Given the description of an element on the screen output the (x, y) to click on. 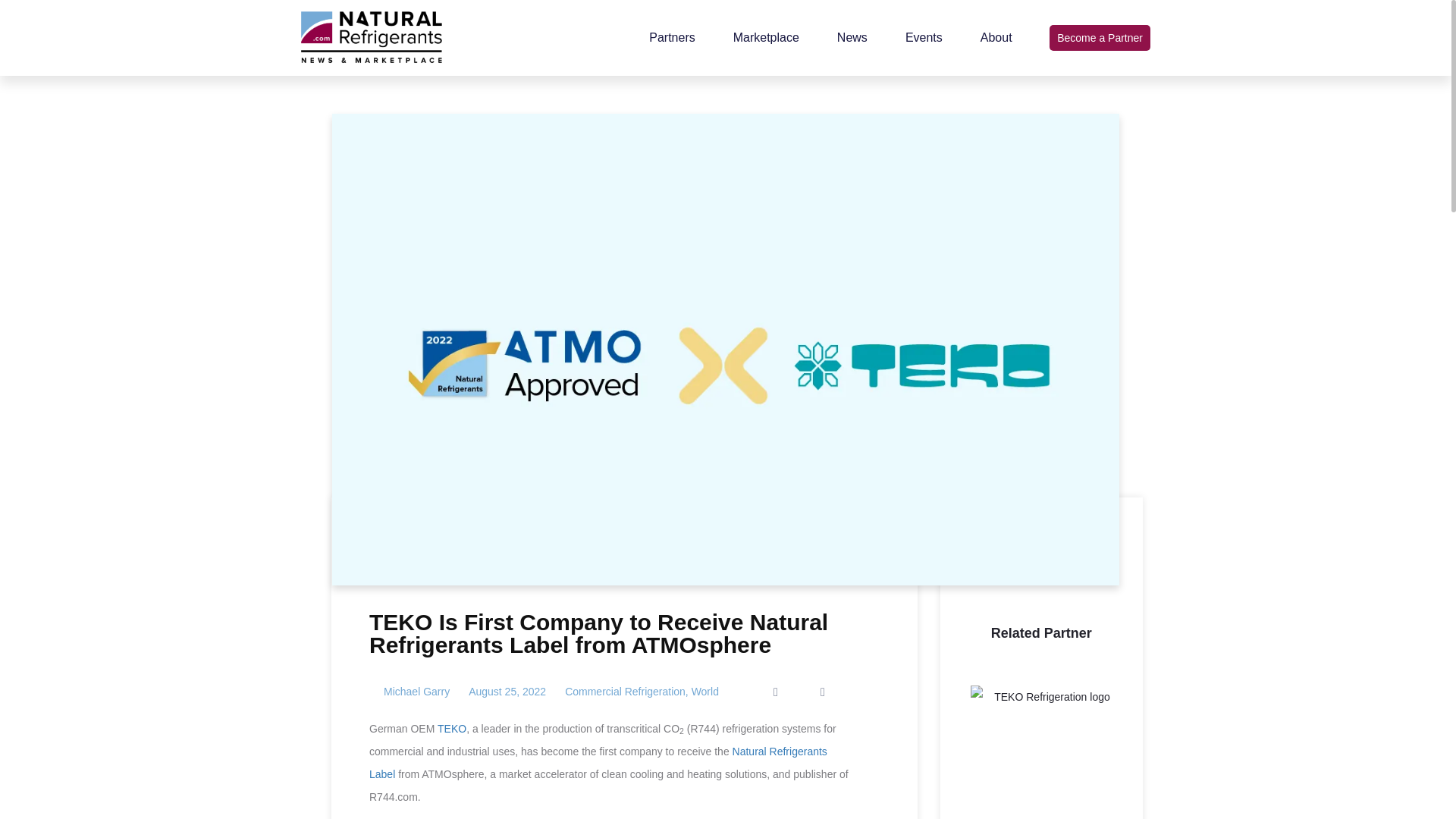
Natural Refrigerants Label (598, 762)
About (995, 37)
World (705, 691)
Marketplace (766, 37)
Partners (671, 37)
August 25, 2022 (507, 692)
Events (923, 37)
Michael Garry (409, 692)
TEKO (451, 728)
Commercial Refrigeration (624, 691)
